Given the description of an element on the screen output the (x, y) to click on. 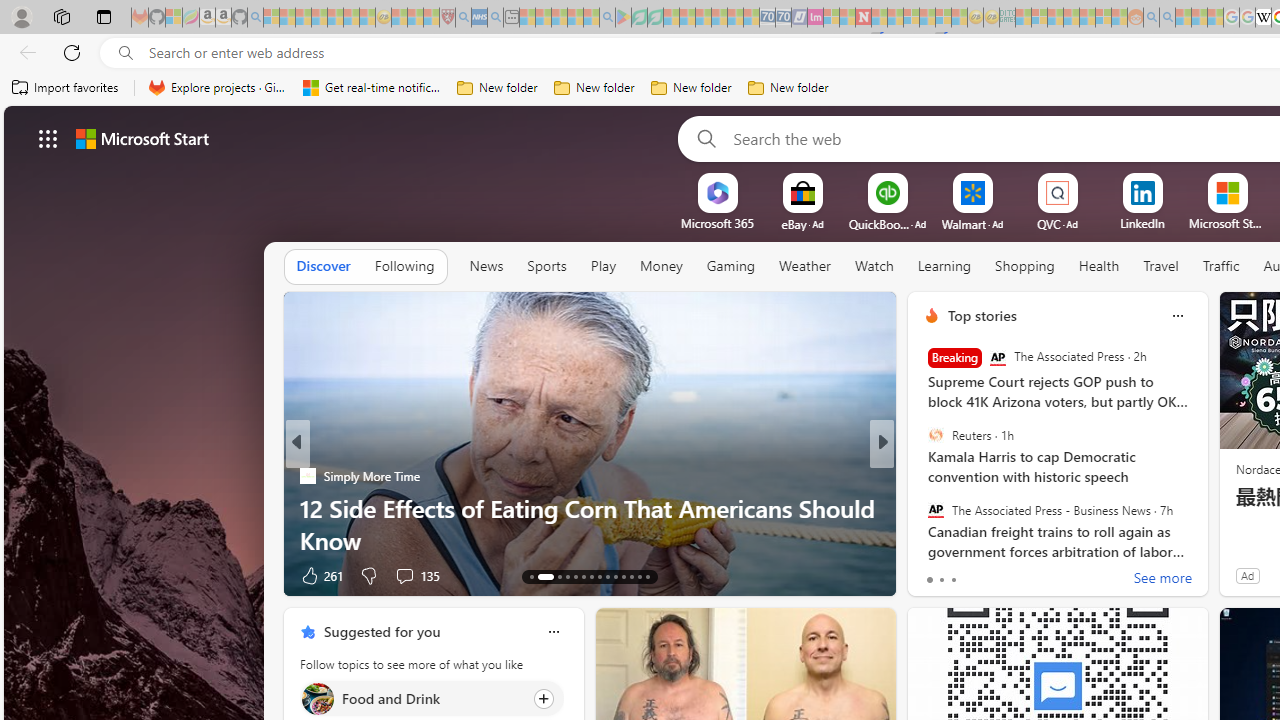
Target page - Wikipedia (1263, 17)
View comments 13 Comment (1029, 574)
View comments 1 Comment (1019, 574)
XDA Developers (923, 507)
View comments 31 Comment (1029, 574)
Search icon (125, 53)
Learning (944, 265)
Microsoft account | Privacy - Sleeping (1039, 17)
659 Like (936, 574)
View comments 308 Comment (397, 575)
186 Like (936, 574)
AutomationID: tab-25 (638, 576)
